Given the description of an element on the screen output the (x, y) to click on. 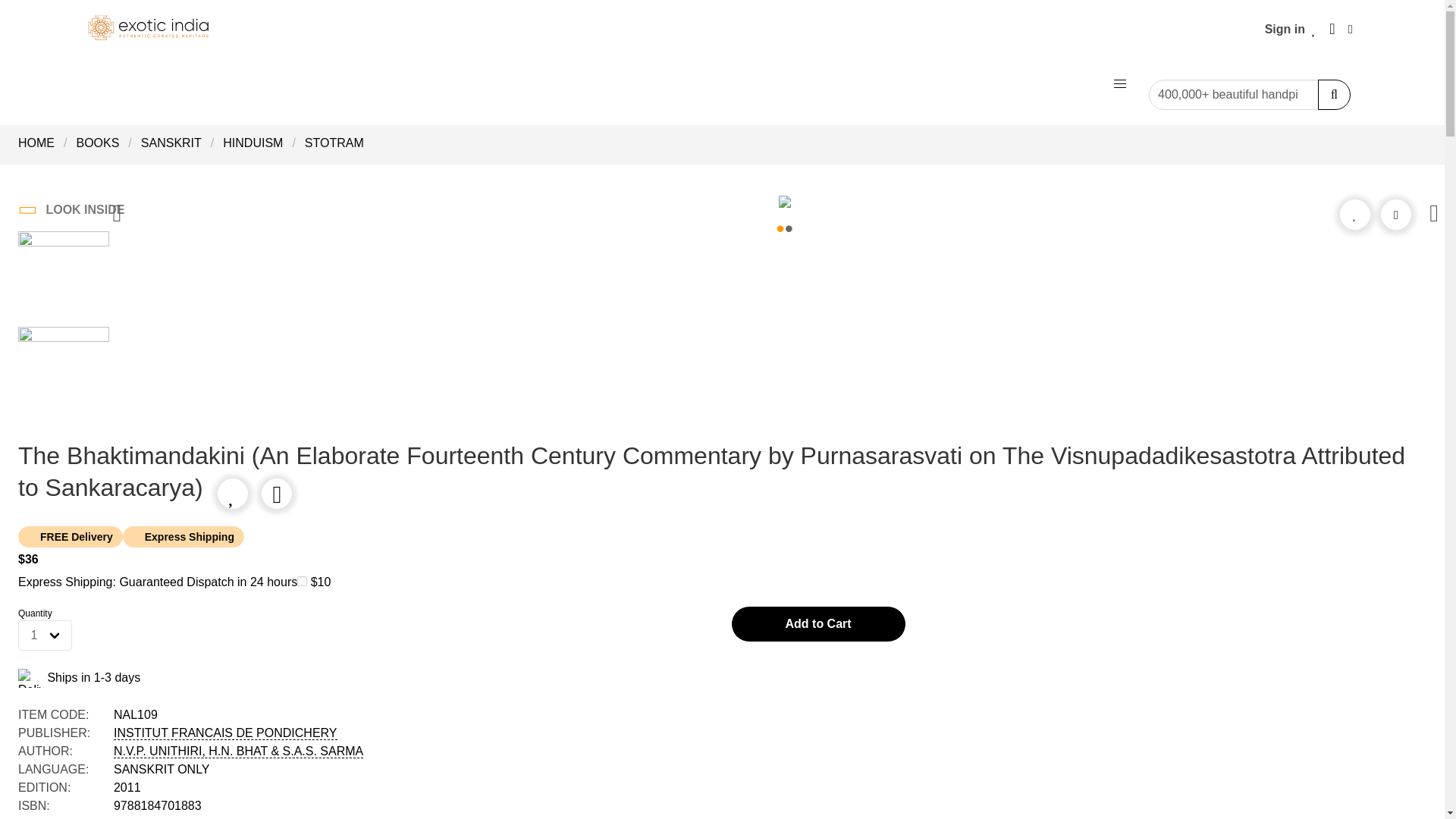
Save to Wishlist (1354, 214)
BOOKS (97, 143)
STOTRAM (333, 143)
Add to Cart (817, 623)
Hinduism (253, 143)
INSTITUT FRANCAIS DE PONDICHERY (225, 733)
HOME (40, 143)
Sanskrit (171, 143)
